Given the description of an element on the screen output the (x, y) to click on. 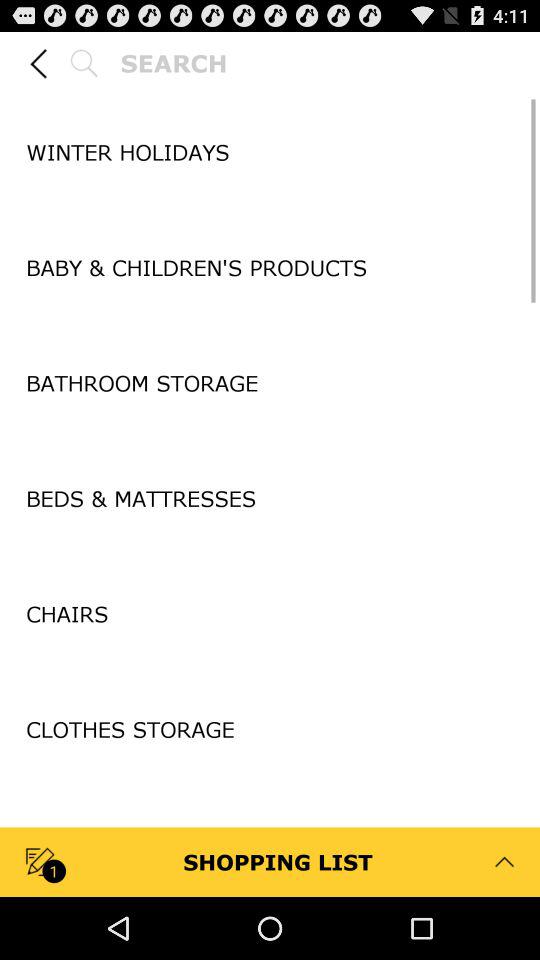
turn off cooking app (270, 842)
